Given the description of an element on the screen output the (x, y) to click on. 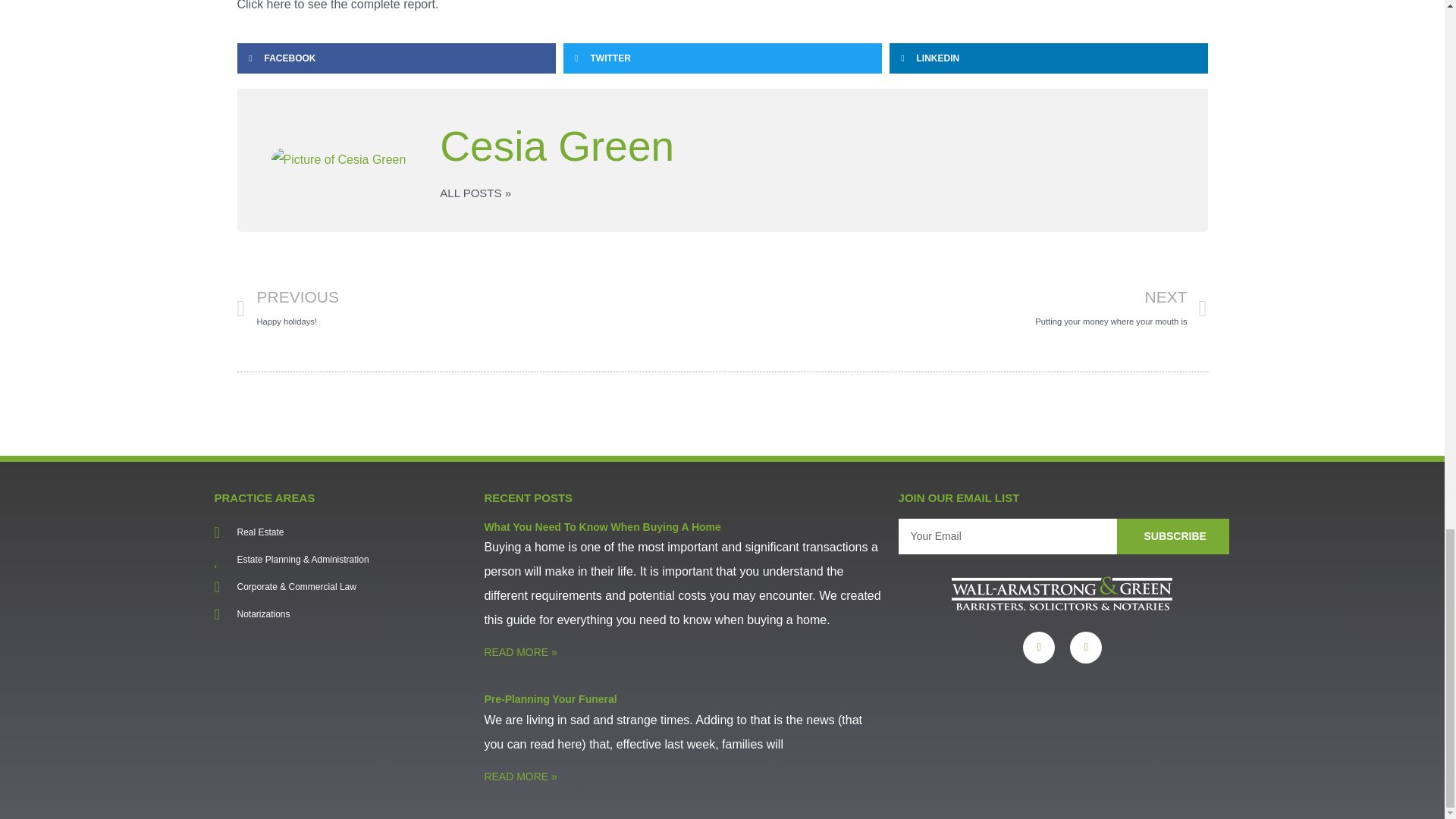
Cesia Green (806, 146)
